Given the description of an element on the screen output the (x, y) to click on. 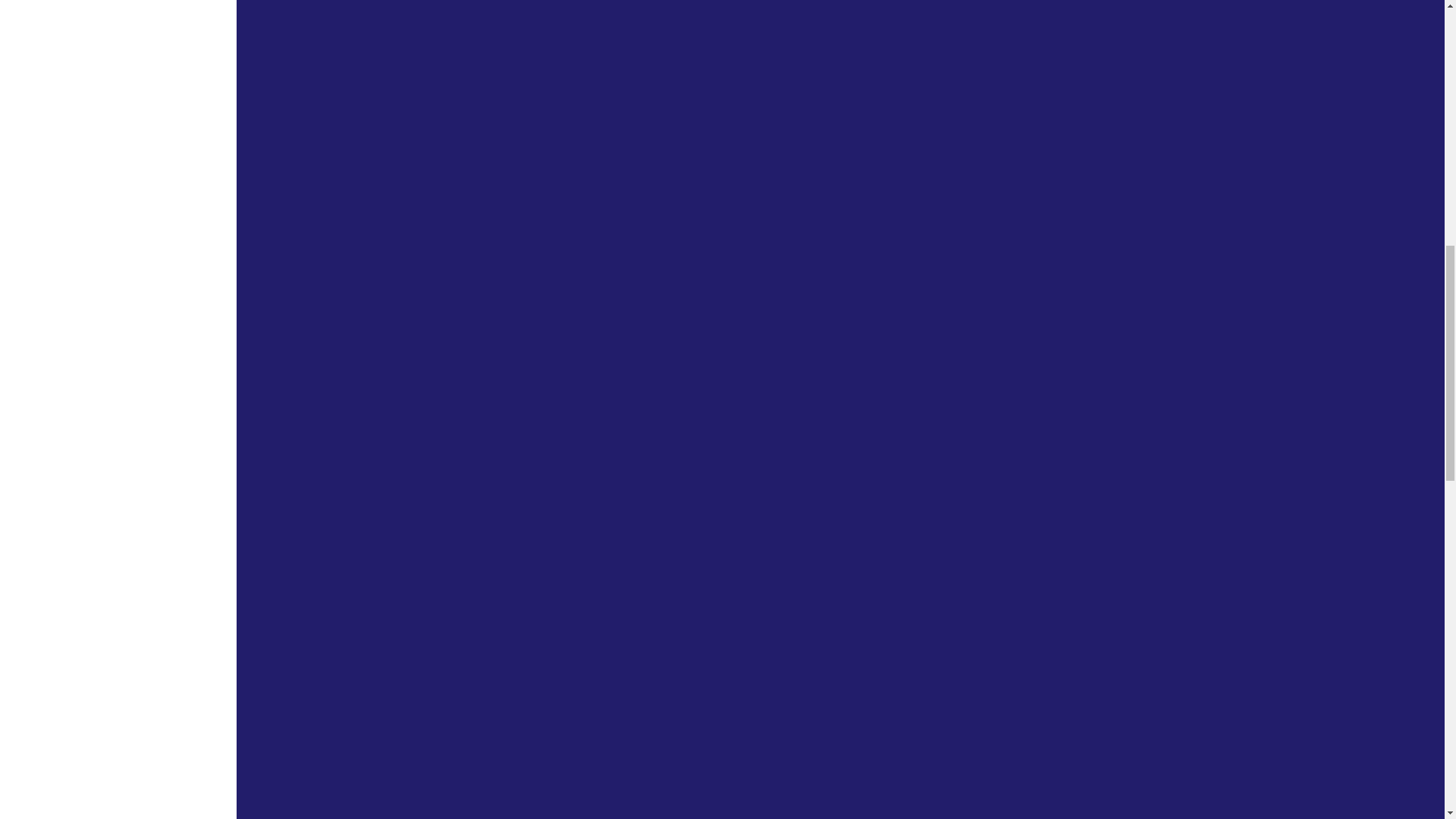
Lansing Update (589, 552)
May 9, 2008 (631, 781)
Lansing Update (589, 336)
May 30, 2008 (639, 369)
December 5, 2008 (667, 154)
May 16, 2008 (639, 584)
Lansing Update (589, 748)
Lansing Update (589, 121)
